Given the description of an element on the screen output the (x, y) to click on. 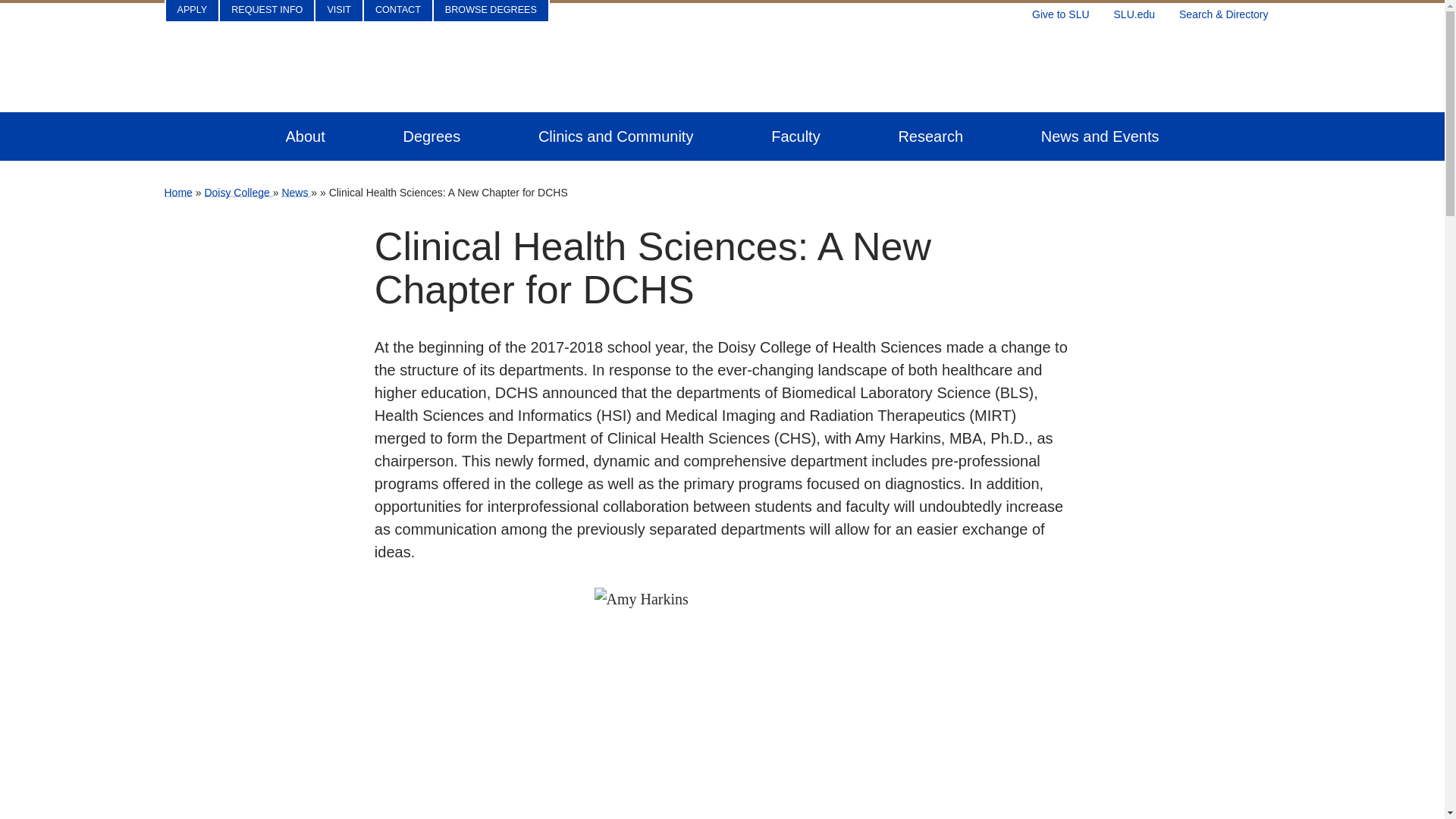
REQUEST INFO (266, 10)
Give to SLU (1060, 10)
About Doisy College (304, 135)
News and Events (1099, 135)
Clinics and Community at Doisy College (616, 135)
Majors and Degrees at Doisy College (432, 135)
BROWSE DEGREES (490, 10)
Research at Doisy College (930, 135)
Faculty of Doisy College (795, 135)
Doisy College (237, 192)
